Given the description of an element on the screen output the (x, y) to click on. 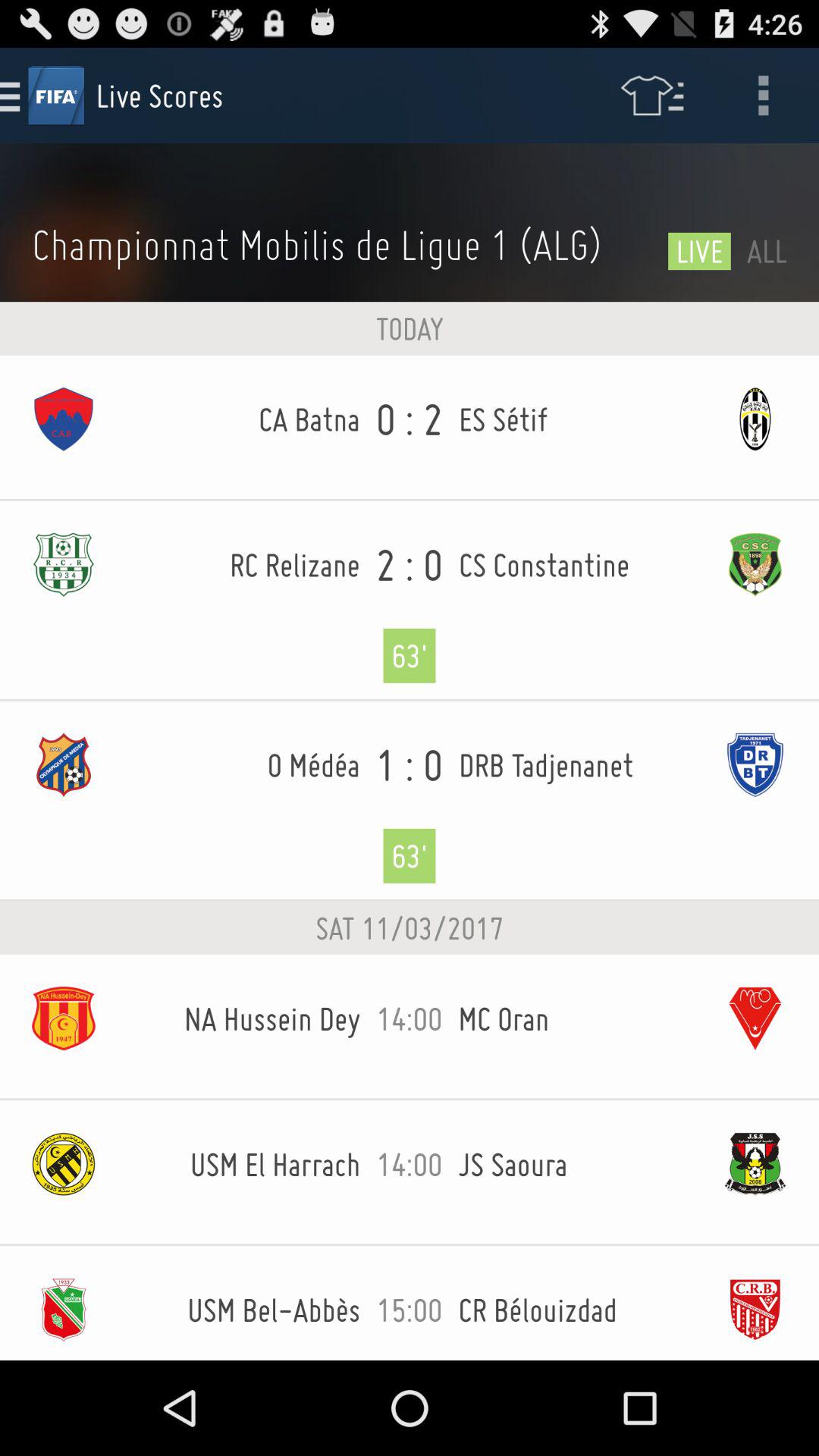
turn off the item next to 14:00 item (574, 1018)
